Given the description of an element on the screen output the (x, y) to click on. 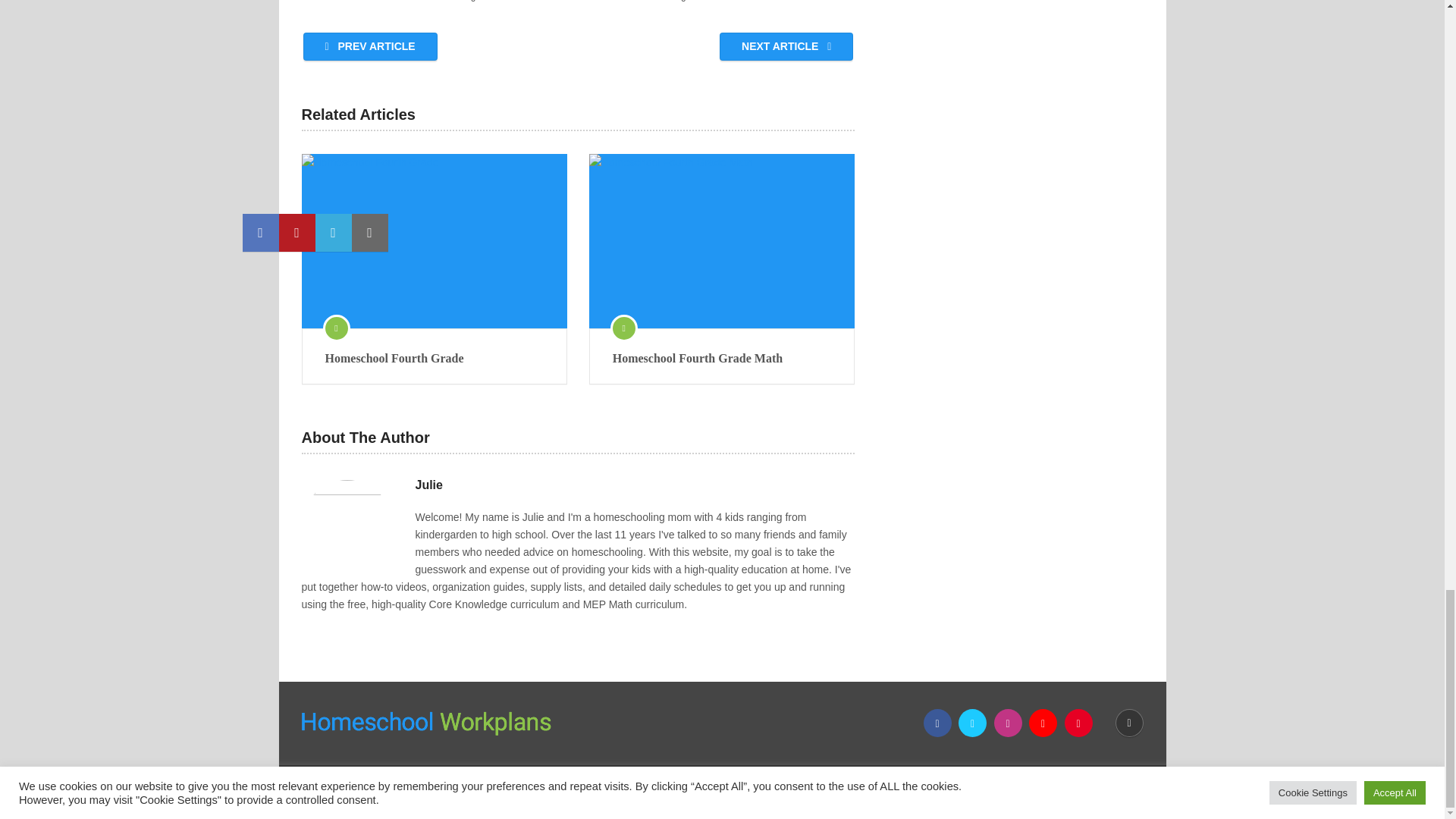
Homeschool Fourth Grade (434, 240)
Homeschool Fourth Grade (433, 358)
Homeschool Fourth Grade (433, 358)
Homeschool Fourth Grade Math (721, 358)
NEXT ARTICLE (786, 46)
Julie (428, 484)
PREV ARTICLE (370, 46)
Homeschool Fourth Grade Math (721, 240)
Homeschool Fourth Grade Math (721, 358)
